Given the description of an element on the screen output the (x, y) to click on. 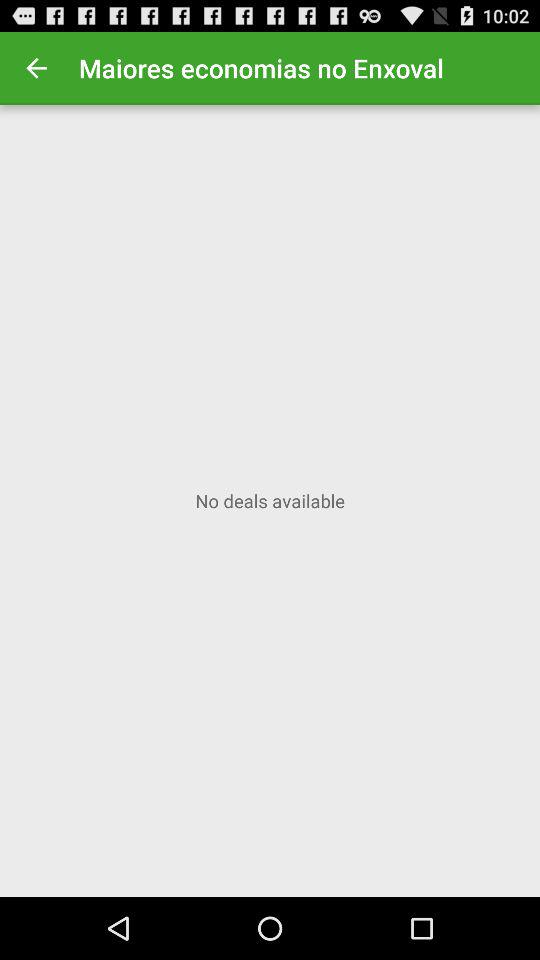
click icon at the top left corner (36, 68)
